Given the description of an element on the screen output the (x, y) to click on. 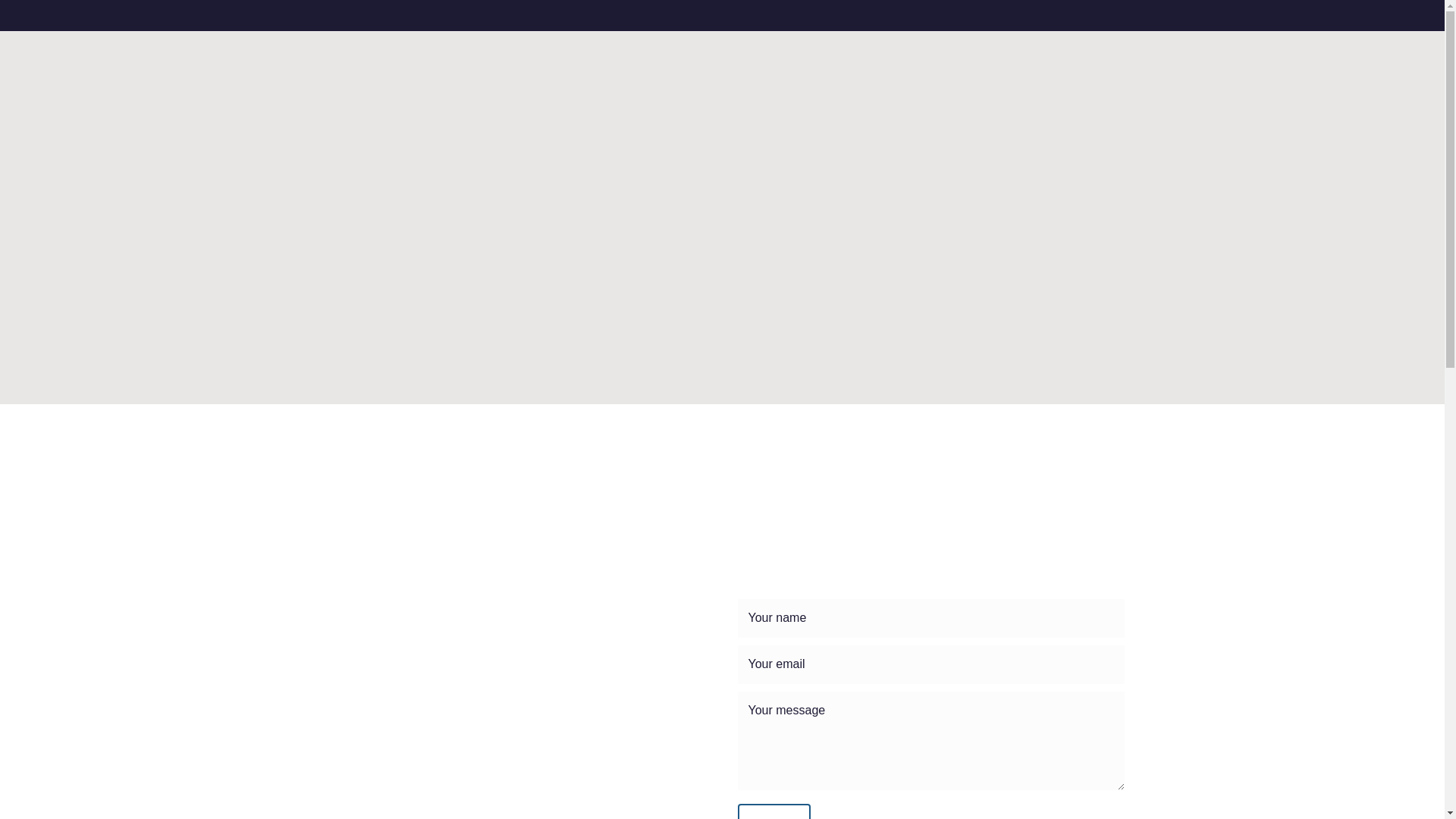
Send (772, 811)
